Given the description of an element on the screen output the (x, y) to click on. 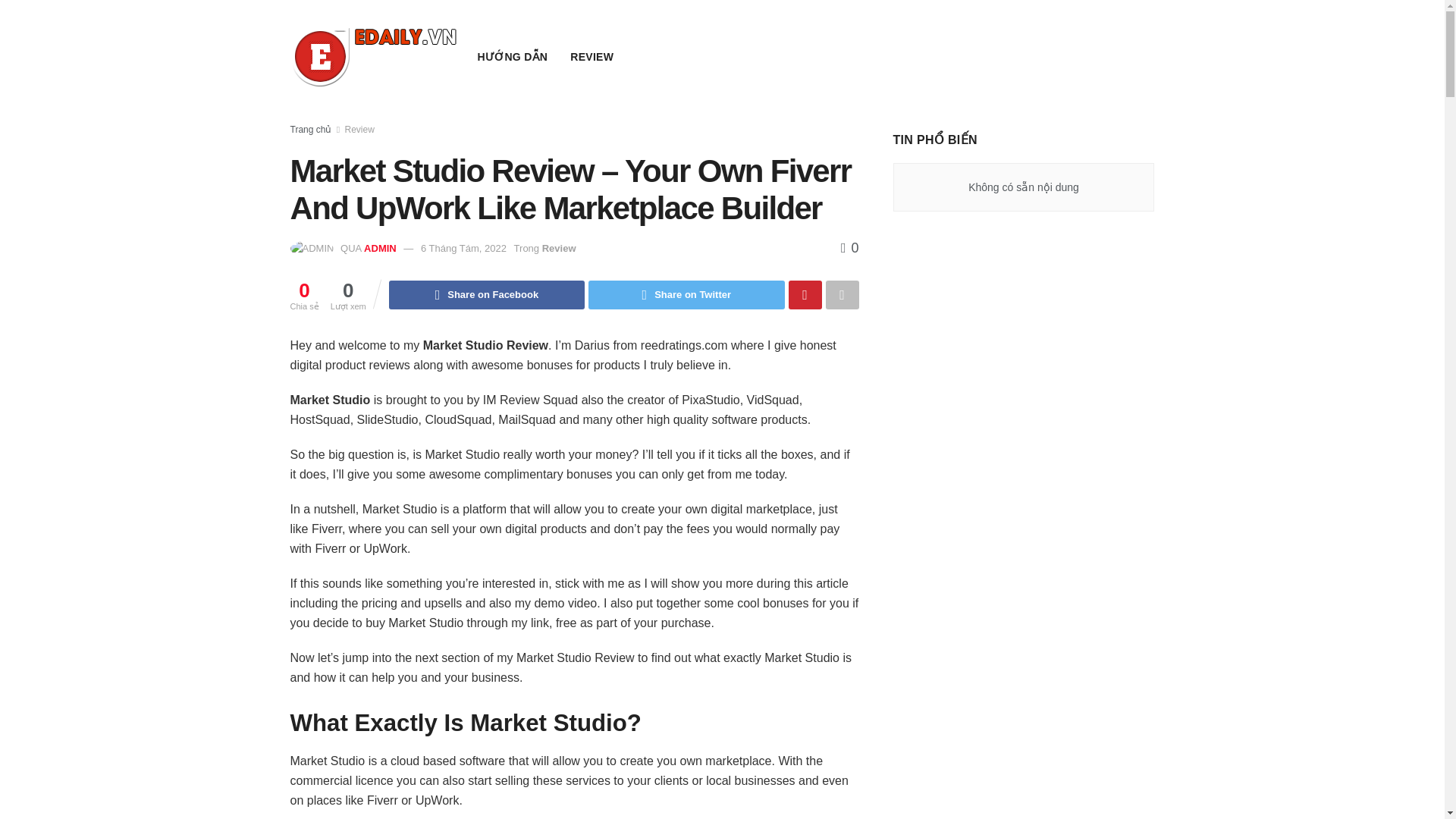
Share on Facebook (486, 294)
REVIEW (591, 56)
0 (850, 247)
Review (558, 247)
Share on Twitter (686, 294)
ADMIN (380, 247)
Review (358, 129)
